Given the description of an element on the screen output the (x, y) to click on. 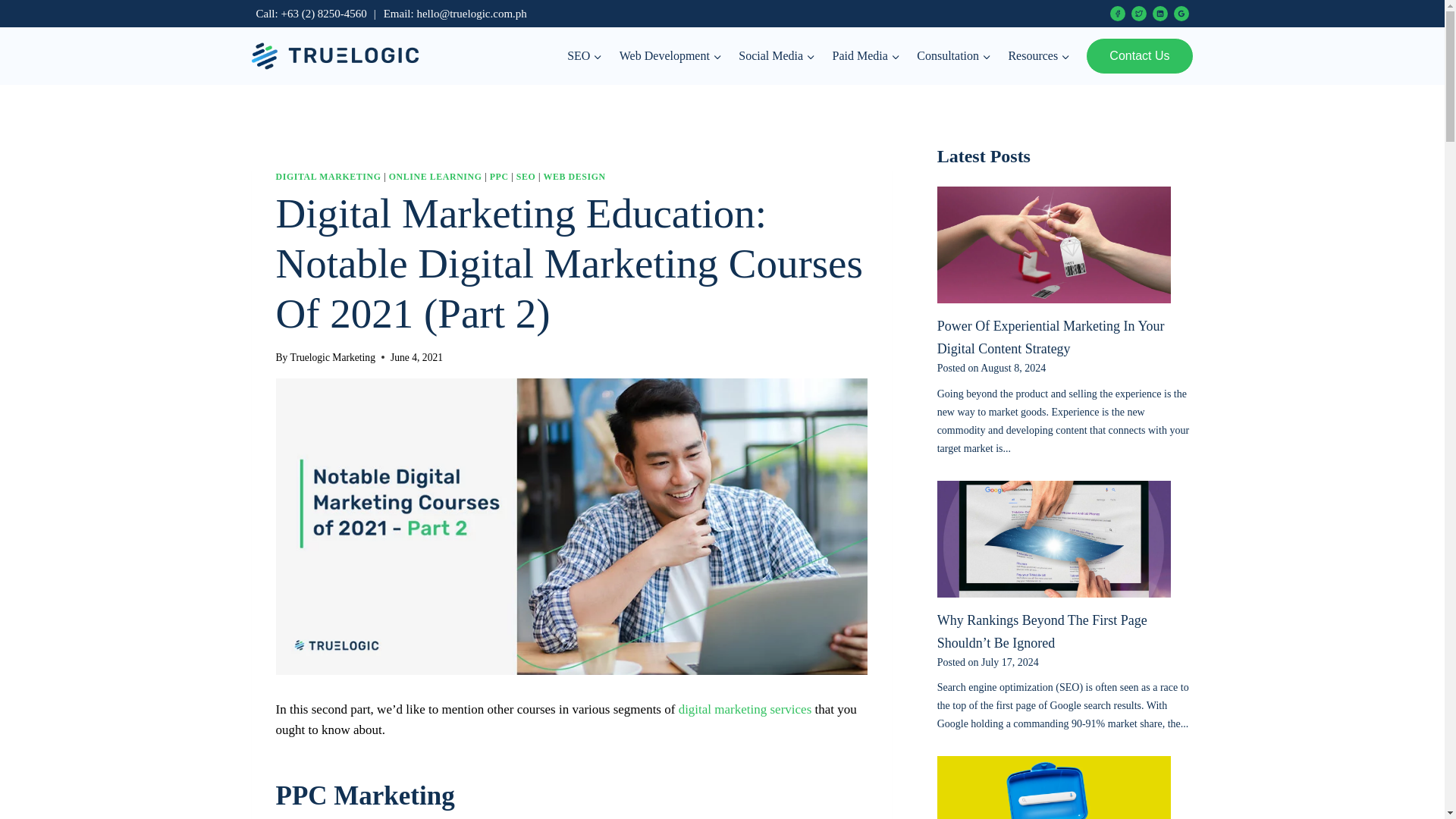
Resources (1038, 56)
Consultation (953, 56)
Social Media (777, 56)
Web Development (670, 56)
SEO (585, 56)
Paid Media (866, 56)
